Given the description of an element on the screen output the (x, y) to click on. 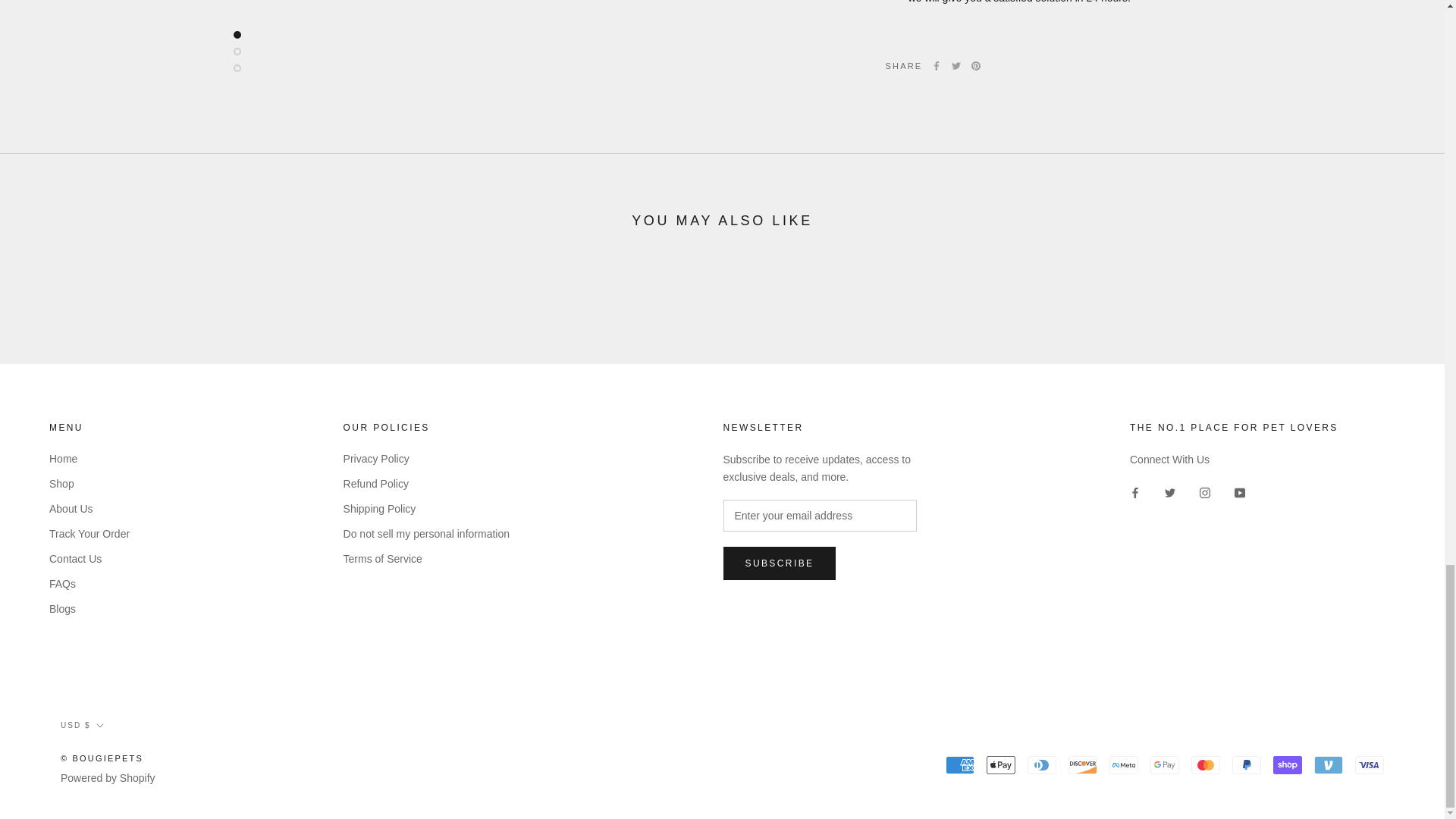
Meta Pay (1123, 764)
PayPal (1245, 764)
American Express (959, 764)
Mastercard (1205, 764)
Apple Pay (1000, 764)
Diners Club (1042, 764)
Google Pay (1164, 764)
Discover (1082, 764)
